Given the description of an element on the screen output the (x, y) to click on. 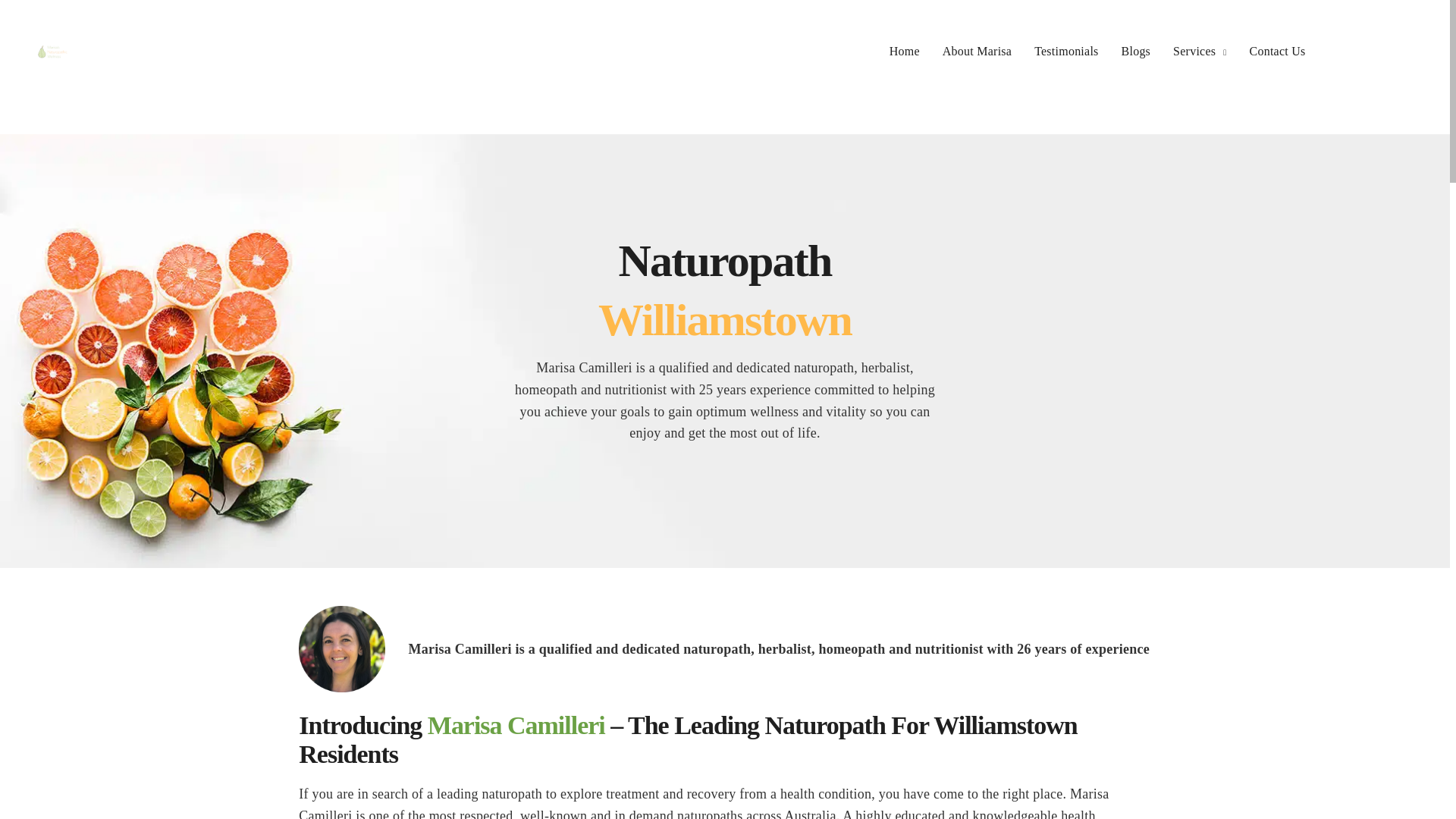
About Marisa (976, 51)
cookie policy (804, 794)
Naturopathic Wellness (51, 51)
Services (1199, 51)
Contact Us (1276, 51)
ACCEPT (885, 794)
Book Now (1363, 51)
marisa-modified (341, 649)
Book Now (1363, 51)
Search (50, 16)
Testimonials (1065, 51)
